Given the description of an element on the screen output the (x, y) to click on. 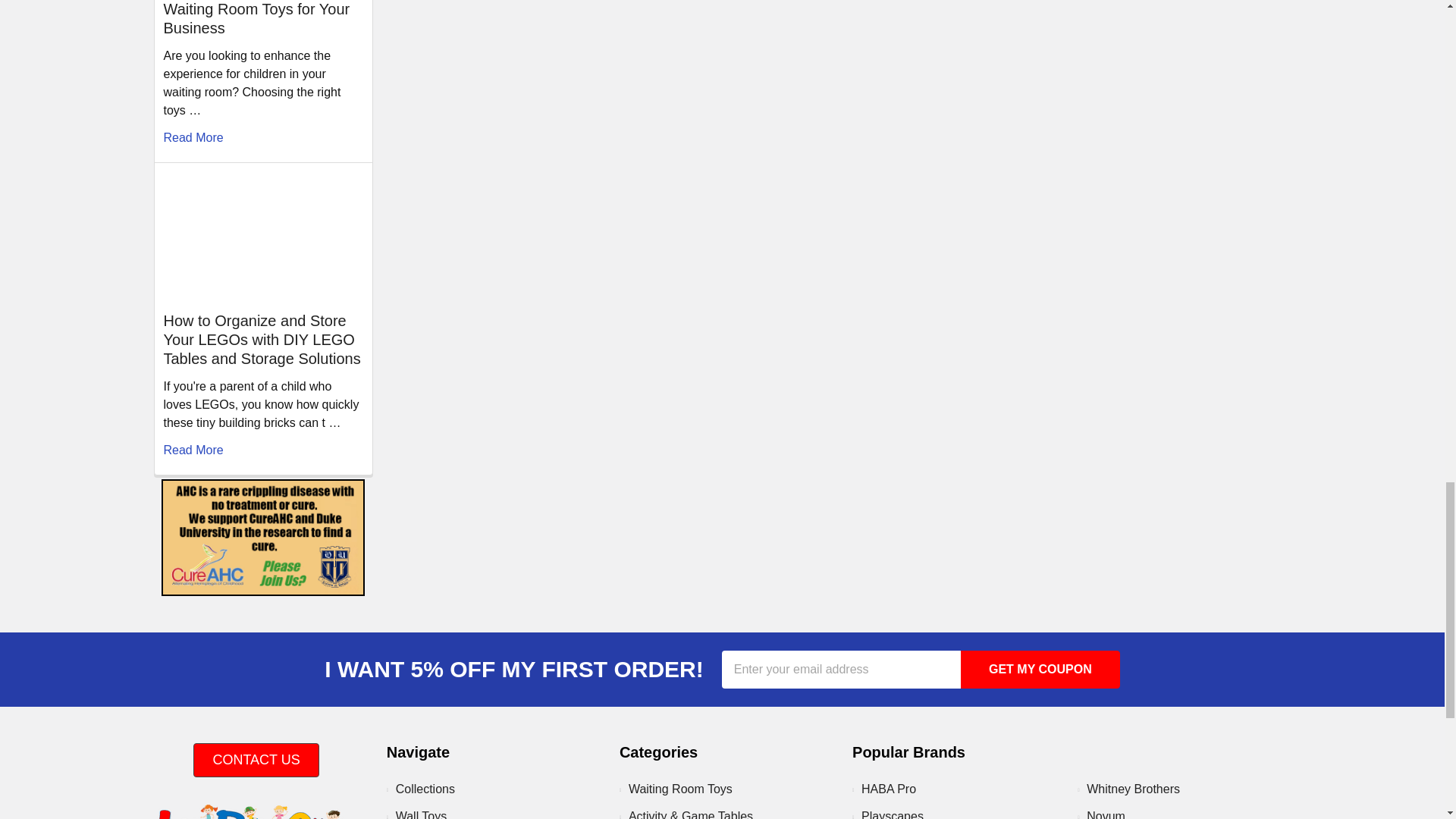
GET MY COUPON (1039, 669)
